Given the description of an element on the screen output the (x, y) to click on. 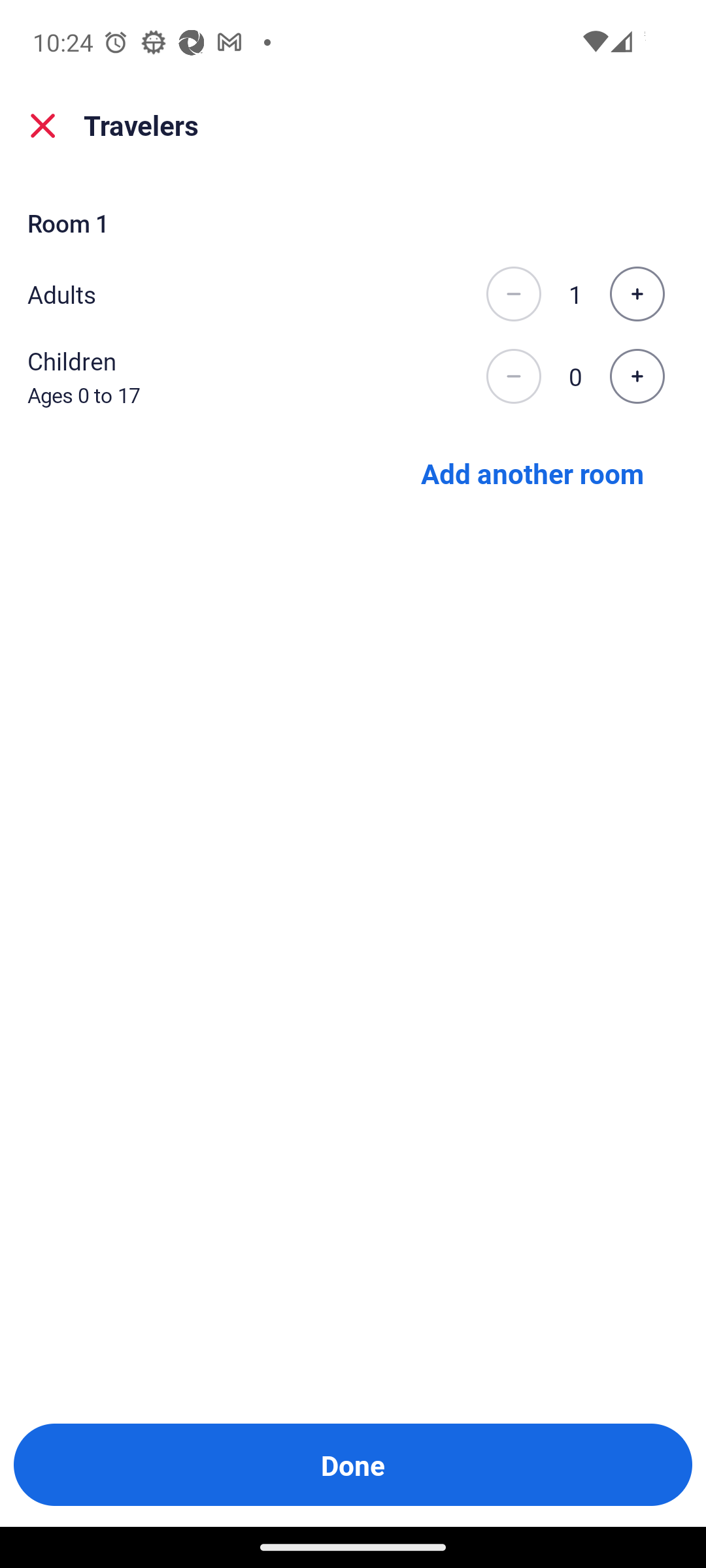
close (43, 125)
Decrease the number of adults (513, 293)
Increase the number of adults (636, 293)
Decrease the number of children (513, 376)
Increase the number of children (636, 376)
Add another room (531, 473)
Done (352, 1464)
